Given the description of an element on the screen output the (x, y) to click on. 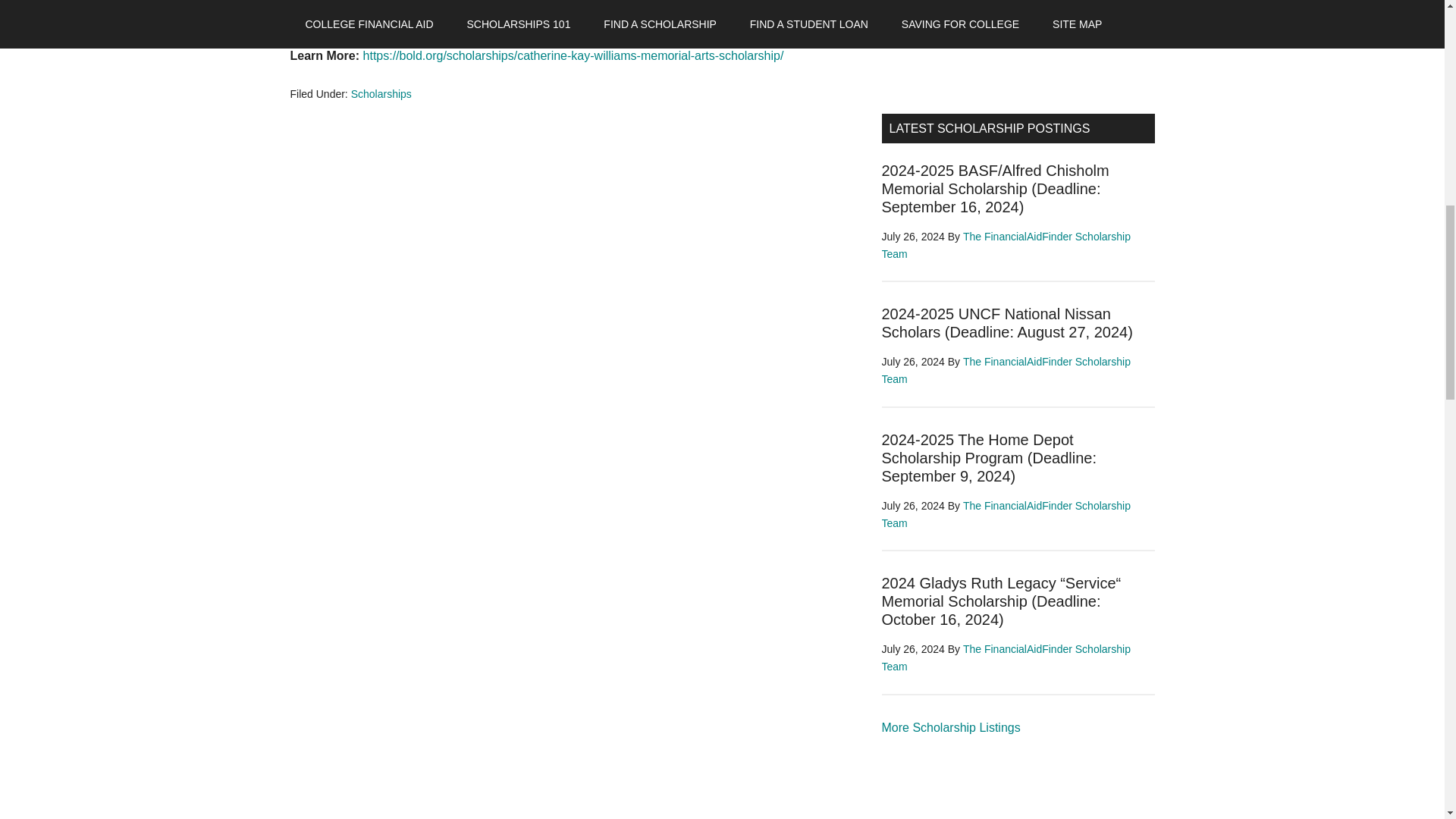
Scholarships (950, 727)
